Given the description of an element on the screen output the (x, y) to click on. 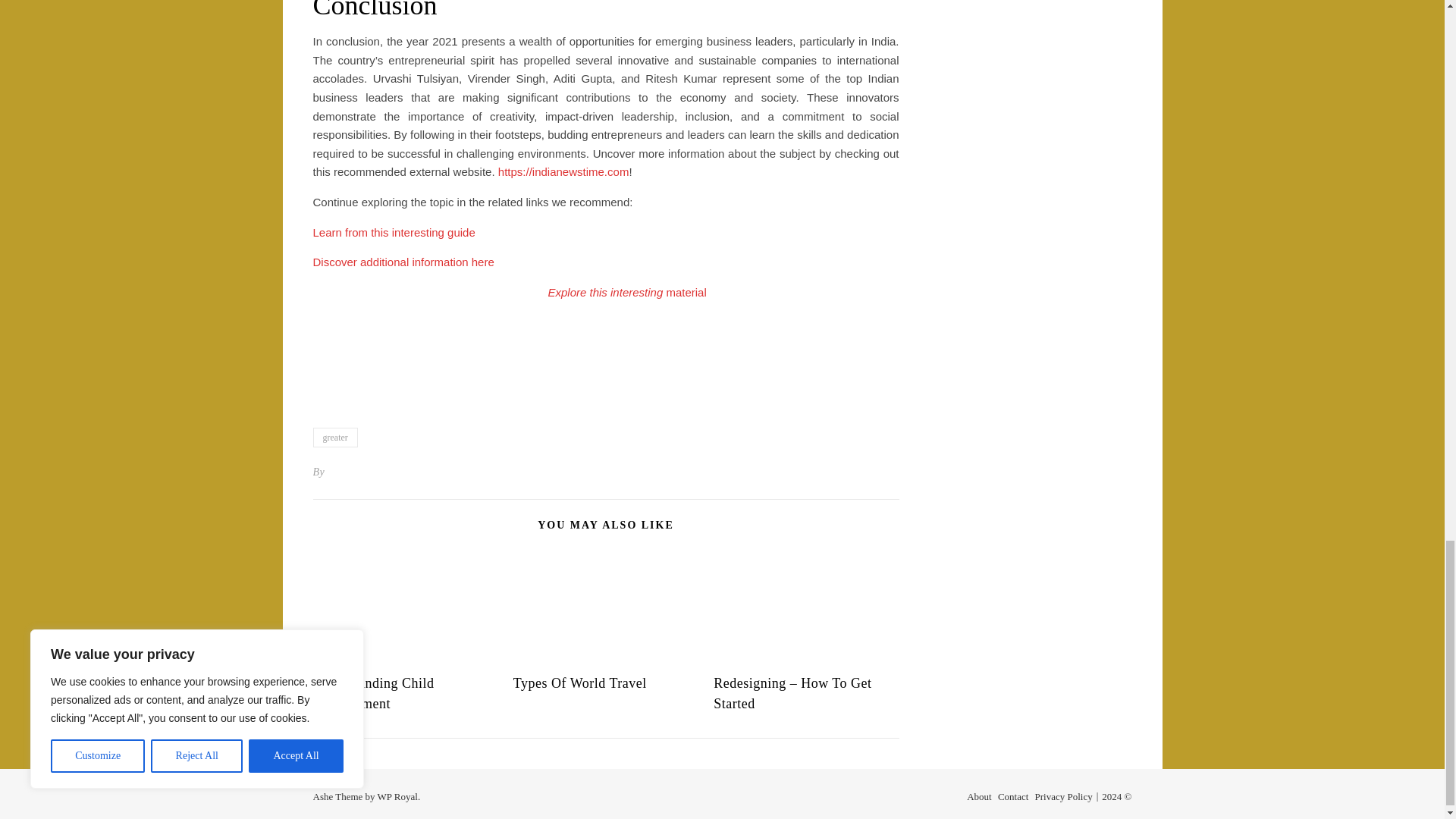
Explore this interesting material (626, 291)
Discover additional information here (403, 261)
Understanding Child Development (373, 693)
Types Of World Travel (579, 683)
greater (334, 437)
Learn from this interesting guide (393, 232)
